Given the description of an element on the screen output the (x, y) to click on. 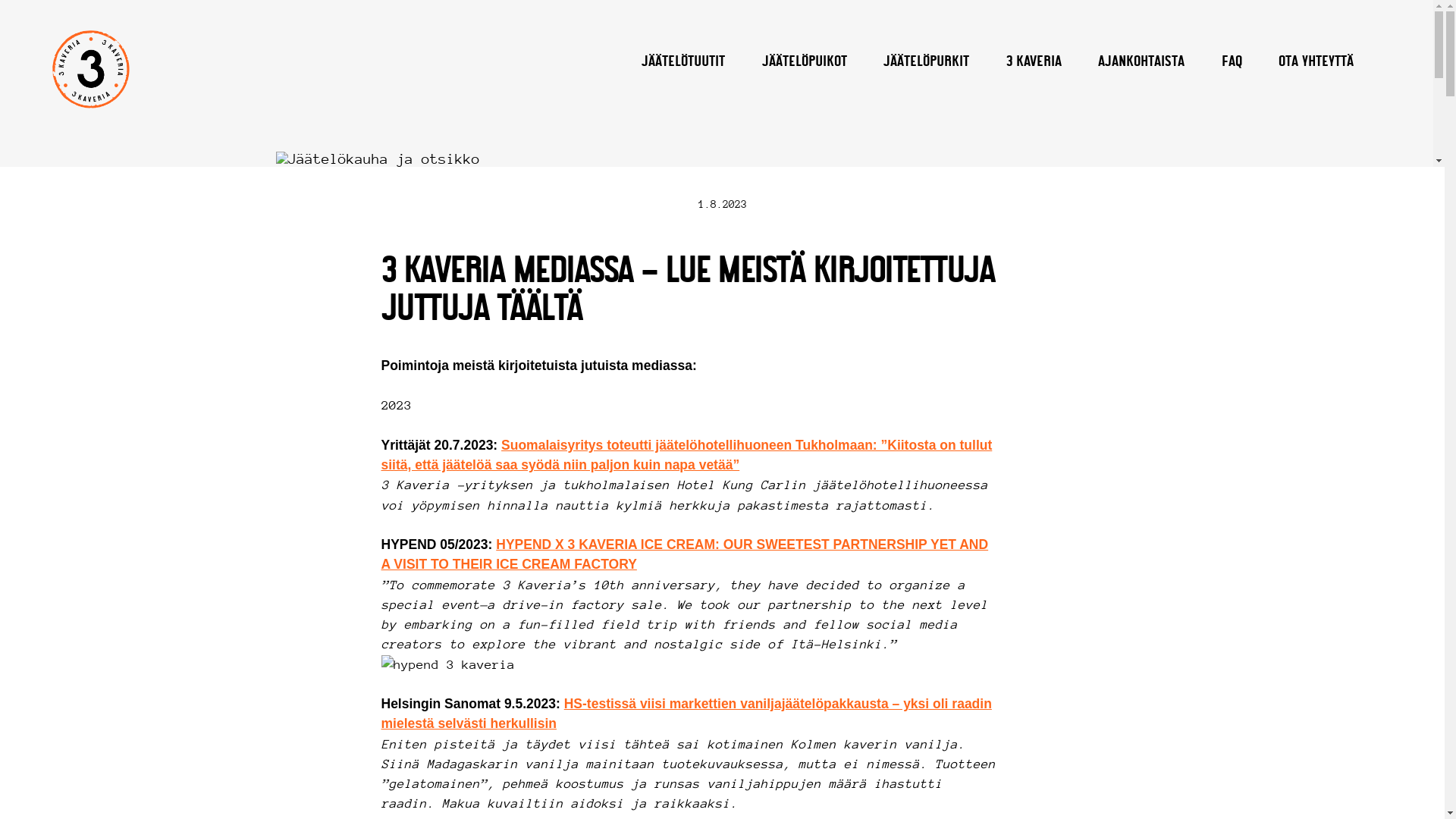
FAQ Element type: text (1231, 61)
AJANKOHTAISTA Element type: text (1141, 61)
3 KAVERIA Element type: text (1033, 61)
3 Friends Element type: text (91, 69)
